Given the description of an element on the screen output the (x, y) to click on. 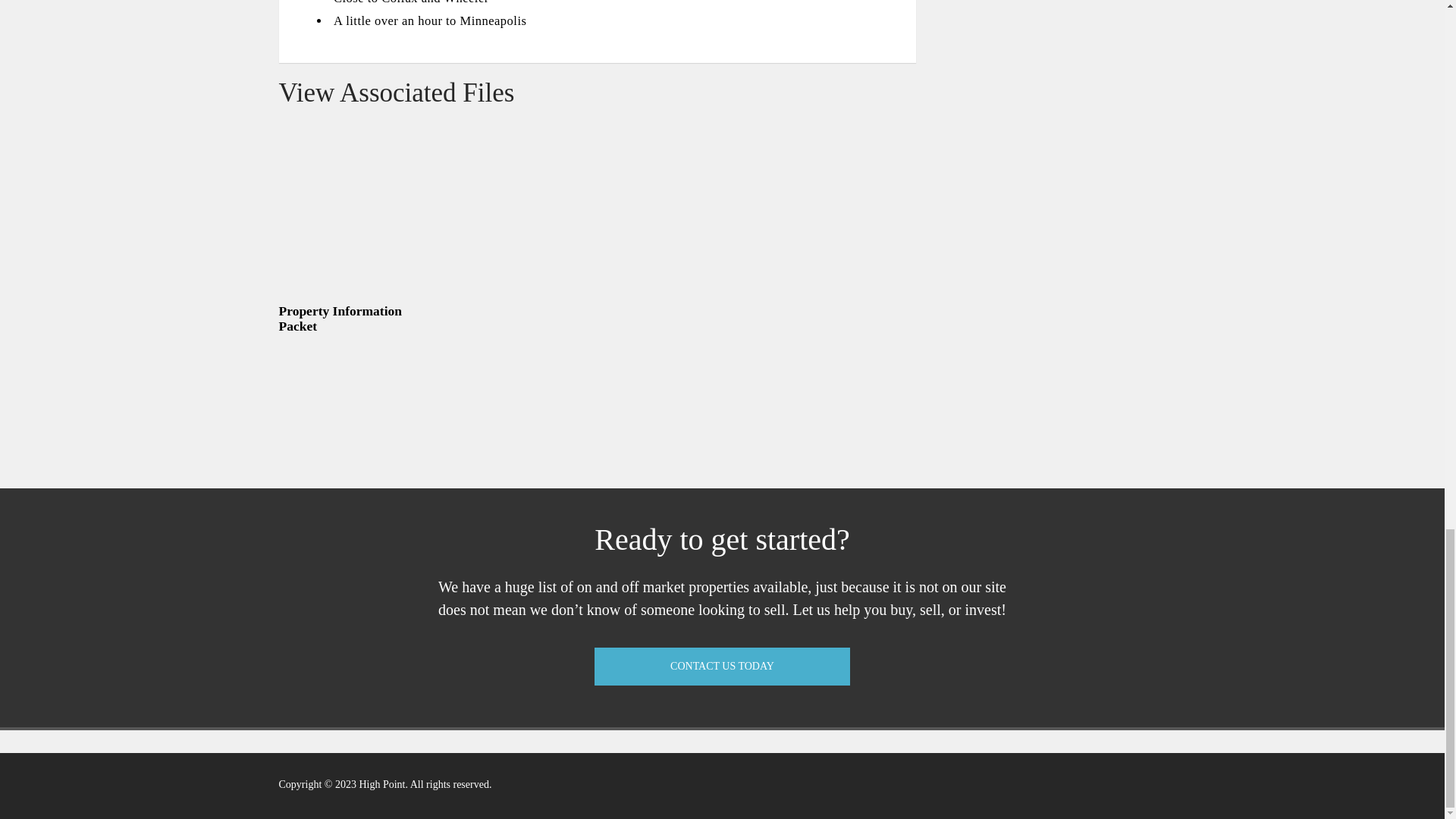
CONTACT US TODAY (722, 666)
